Given the description of an element on the screen output the (x, y) to click on. 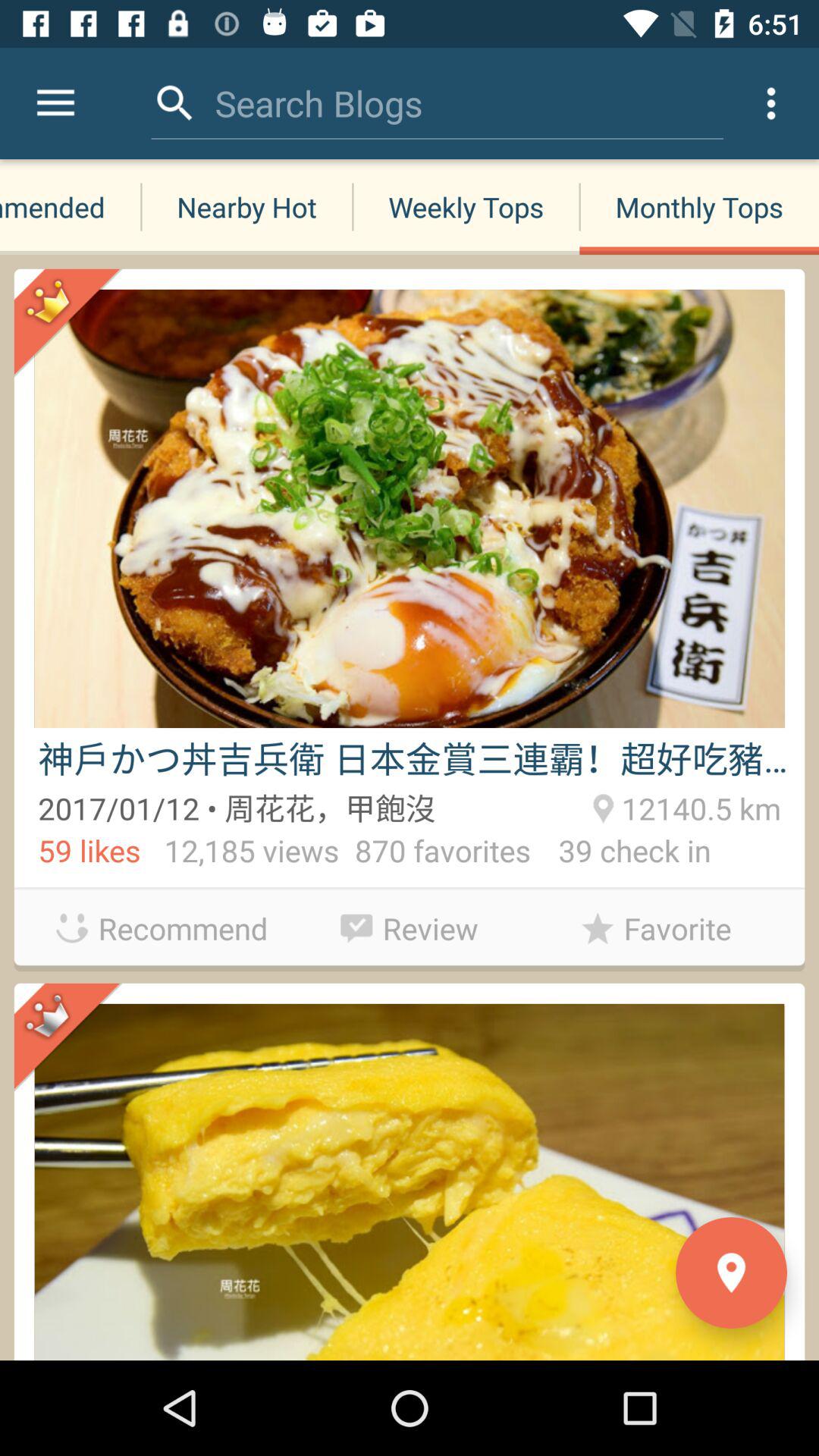
flip to the favorite icon (656, 928)
